Given the description of an element on the screen output the (x, y) to click on. 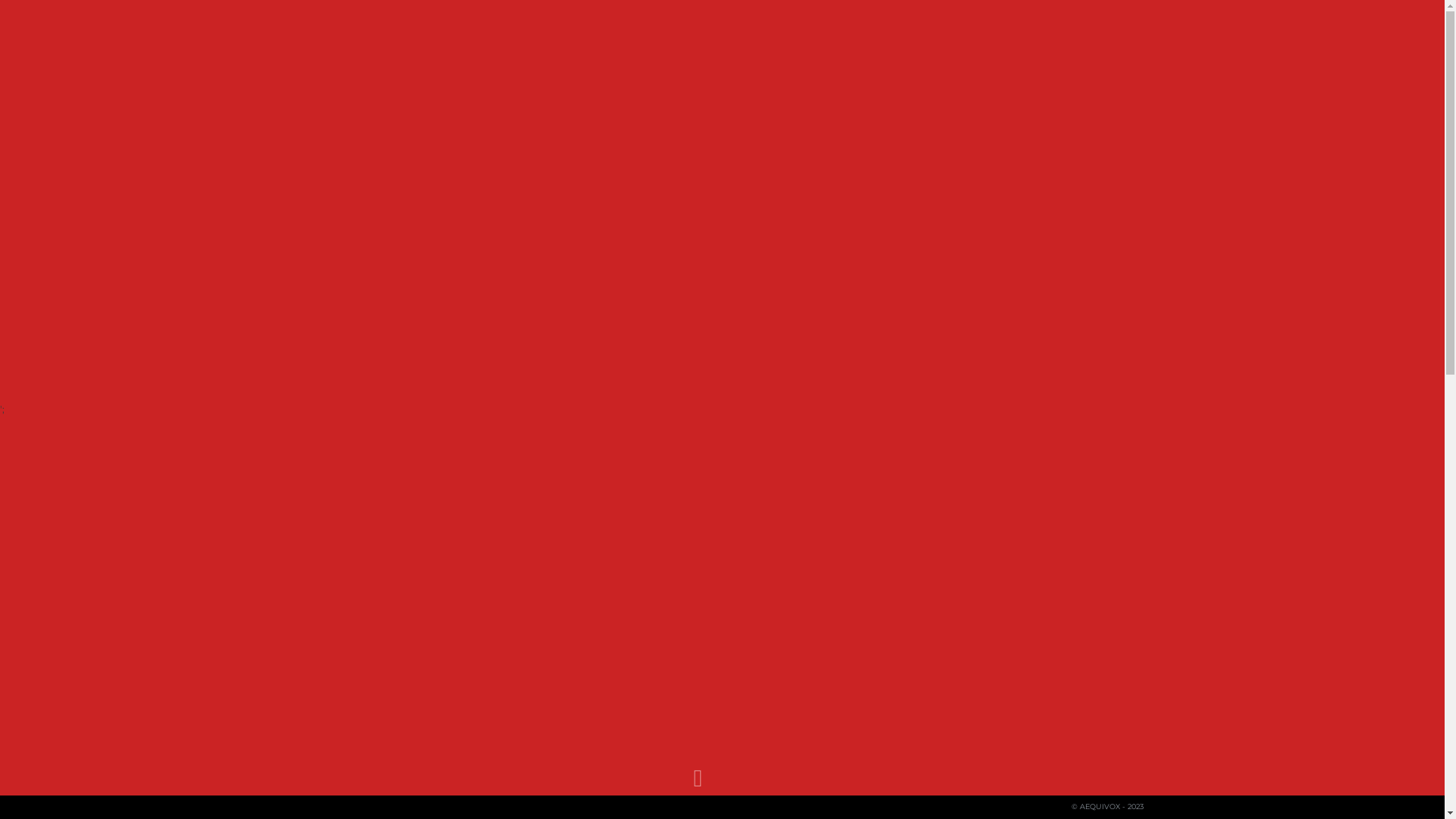
YOUTUBE Element type: text (329, 806)
INSTAGRAM Element type: text (376, 806)
SOUNDCLOUD Element type: text (354, 806)
FACEBOOK Element type: text (307, 806)
